Given the description of an element on the screen output the (x, y) to click on. 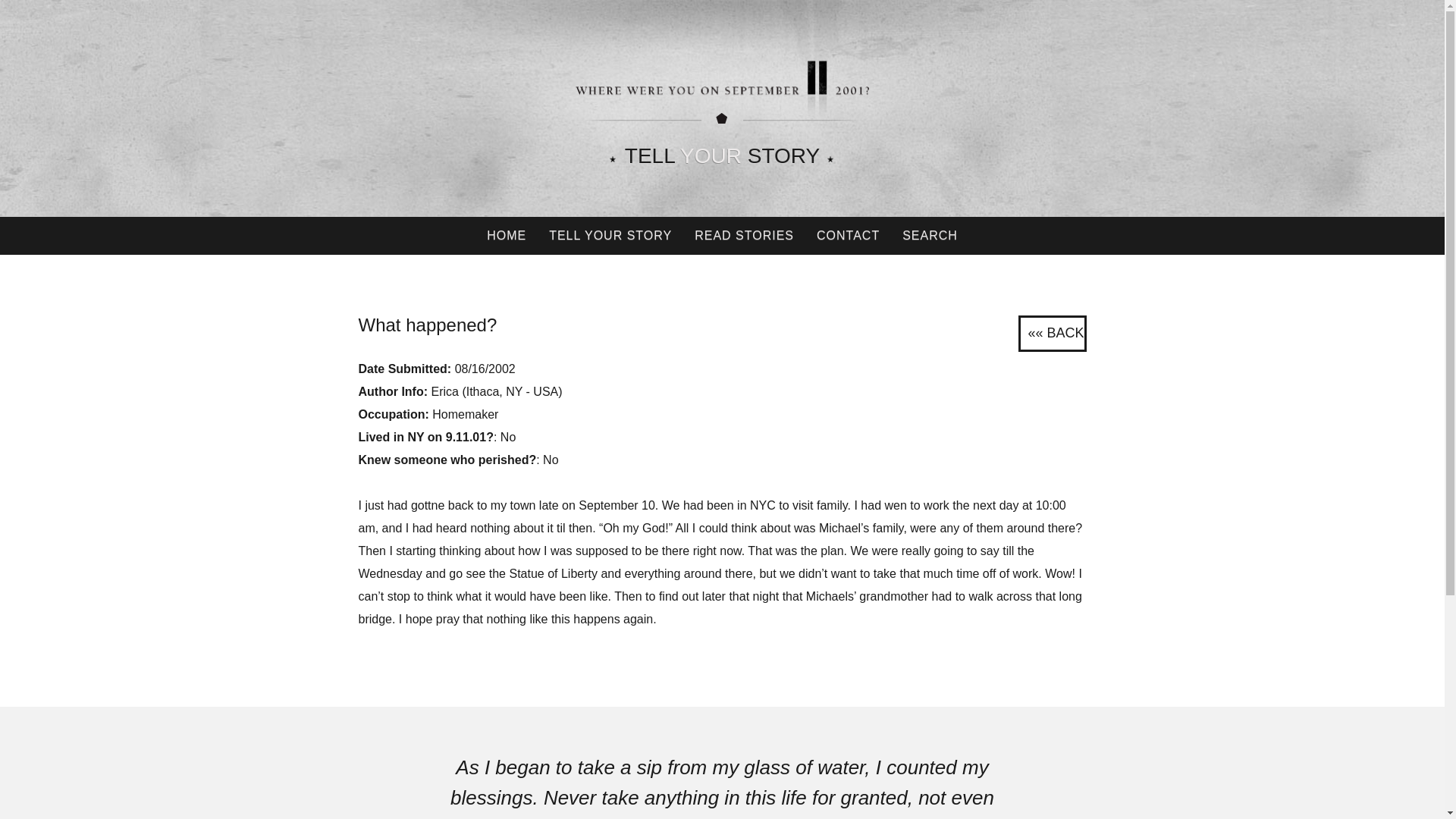
Contact (848, 235)
CONTACT (848, 235)
Read Stories (743, 235)
Tell Your Story (609, 235)
HOME (506, 235)
TELL YOUR STORY (609, 235)
TELL YOUR STORY (721, 155)
Home (506, 235)
READ STORIES (743, 235)
Search (930, 235)
